Given the description of an element on the screen output the (x, y) to click on. 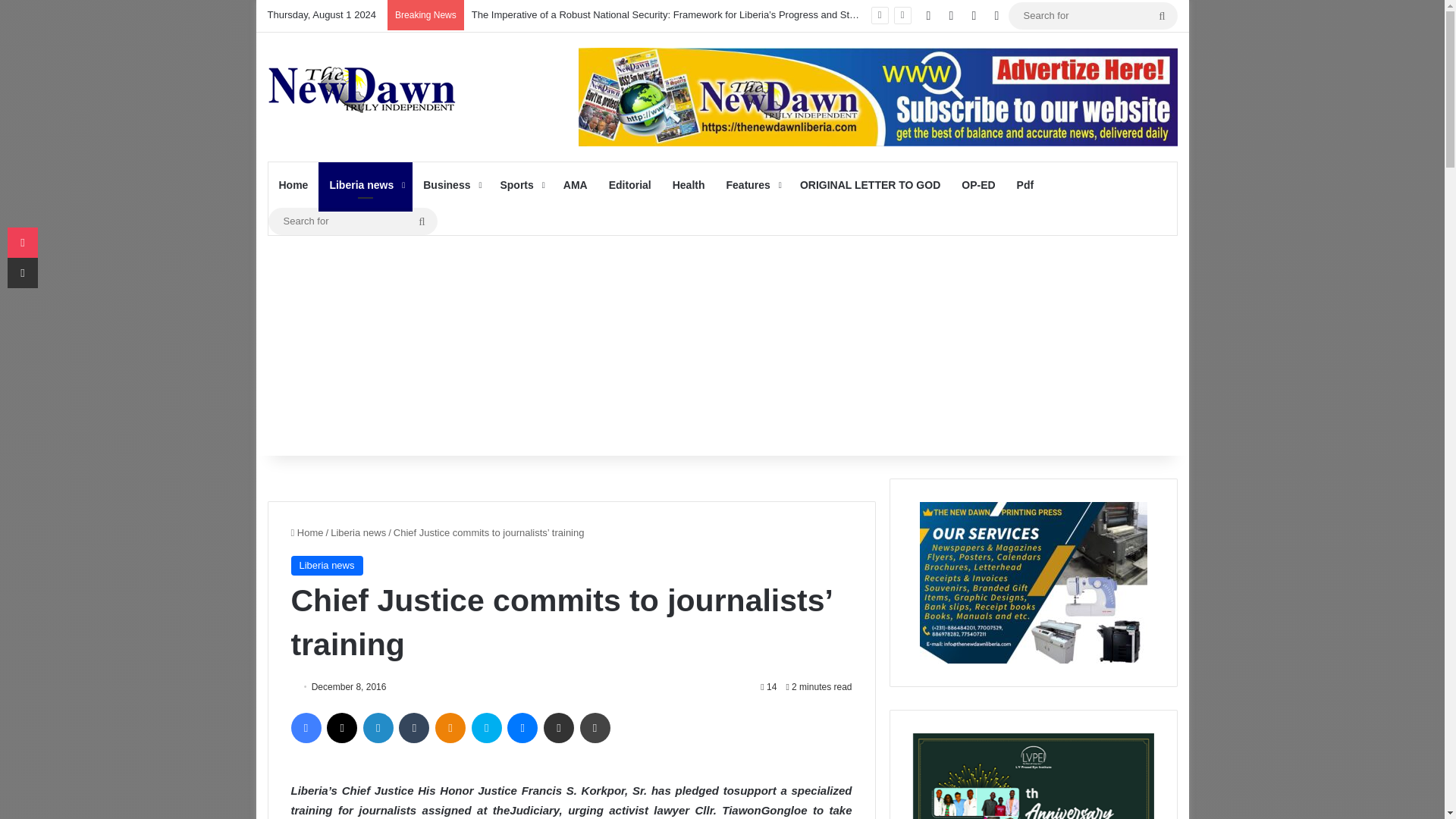
Sports (520, 185)
Messenger (521, 727)
Editorial (630, 185)
Business (450, 185)
AMA (575, 185)
Print (594, 727)
Odnoklassniki (450, 727)
Search for (1093, 15)
Home (292, 185)
Share via Email (558, 727)
Health (689, 185)
LinkedIn (377, 727)
Liberia news (365, 185)
Tumblr (413, 727)
Facebook (306, 727)
